Given the description of an element on the screen output the (x, y) to click on. 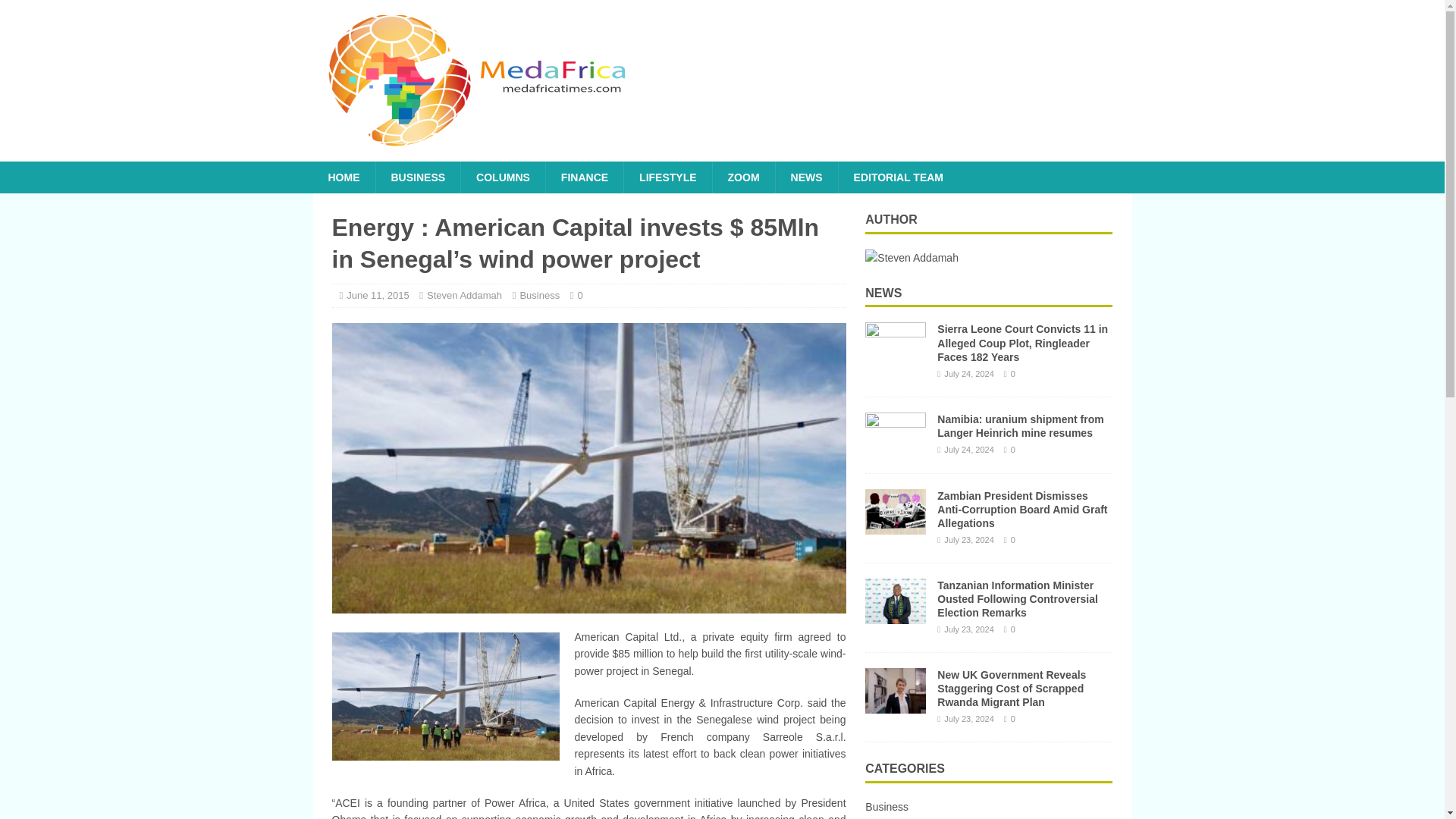
0 (580, 295)
LIFESTYLE (667, 177)
Namibia: uranium shipment from Langer Heinrich mine resumes (895, 449)
0 (580, 295)
0 (1012, 373)
Business (539, 295)
0 (1012, 449)
Namibia: uranium shipment from Langer Heinrich mine resumes (1020, 425)
NEWS (882, 292)
